Given the description of an element on the screen output the (x, y) to click on. 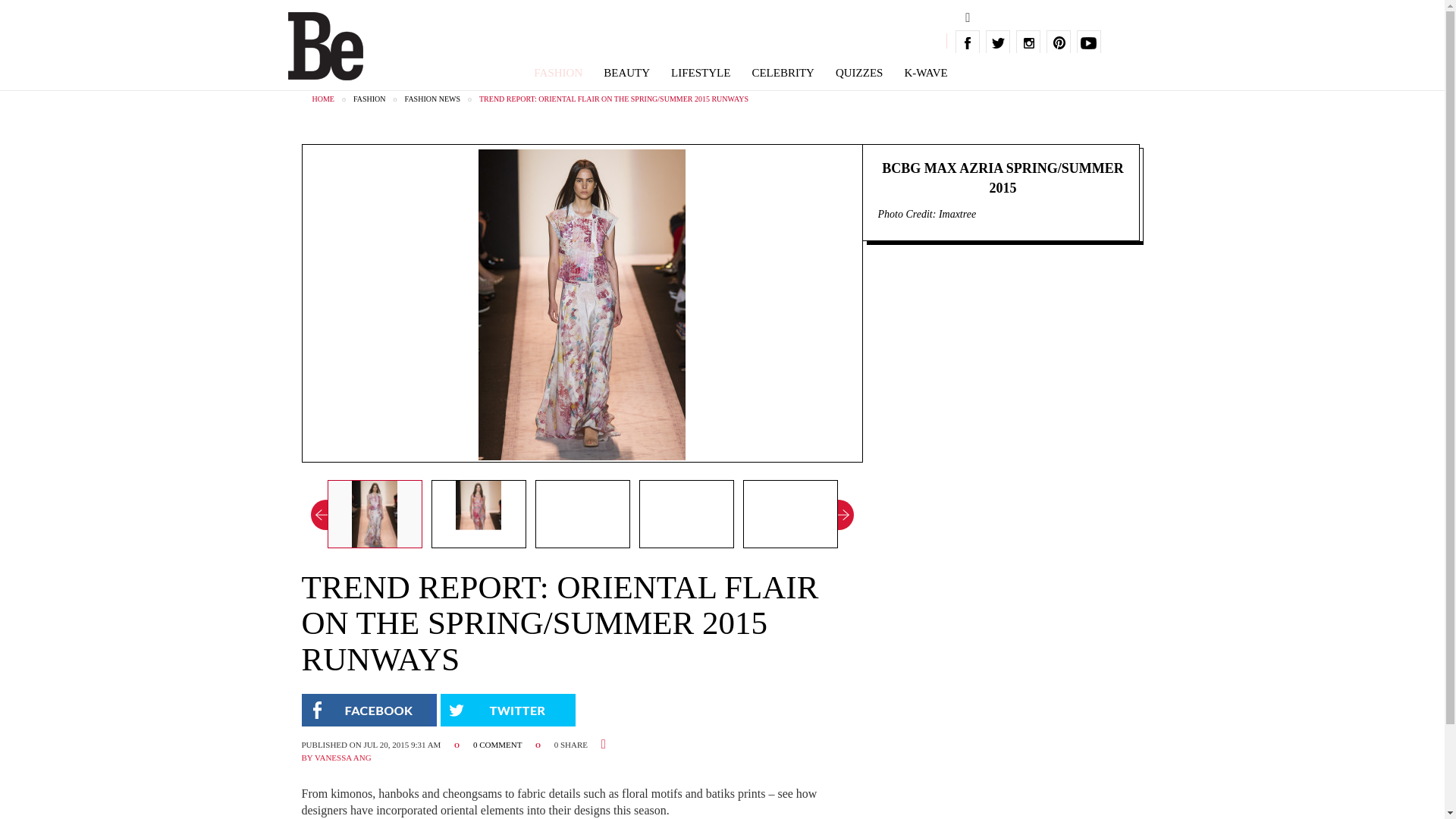
LIFESTYLE (700, 72)
FASHION (558, 72)
CELEBRITY (782, 72)
BEAUTY (626, 72)
0 COMMENT (498, 744)
